Given the description of an element on the screen output the (x, y) to click on. 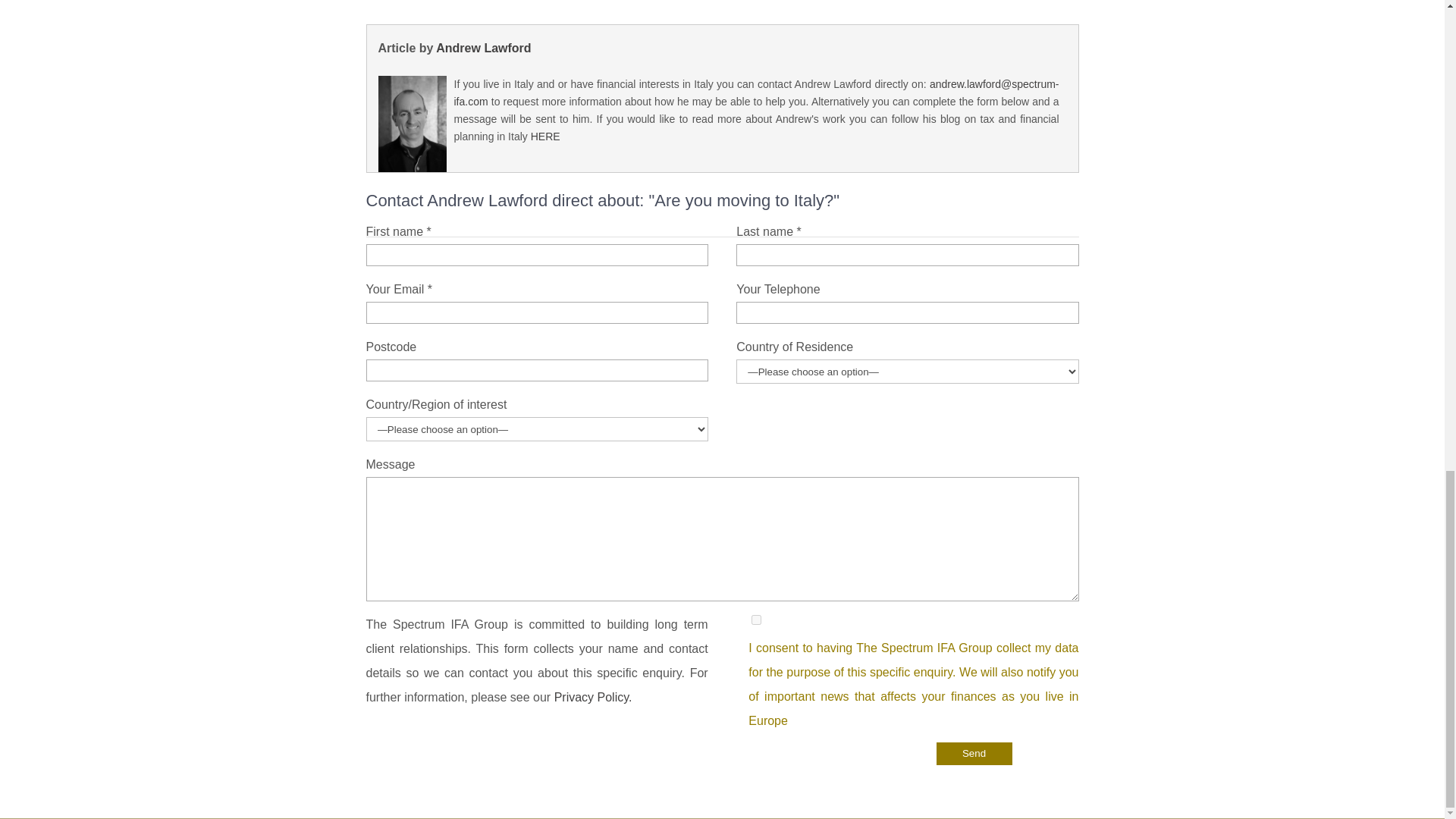
Send (973, 753)
Privacy Policy. (592, 697)
Andrew Lawford (483, 47)
Send (973, 753)
HERE (545, 136)
